Given the description of an element on the screen output the (x, y) to click on. 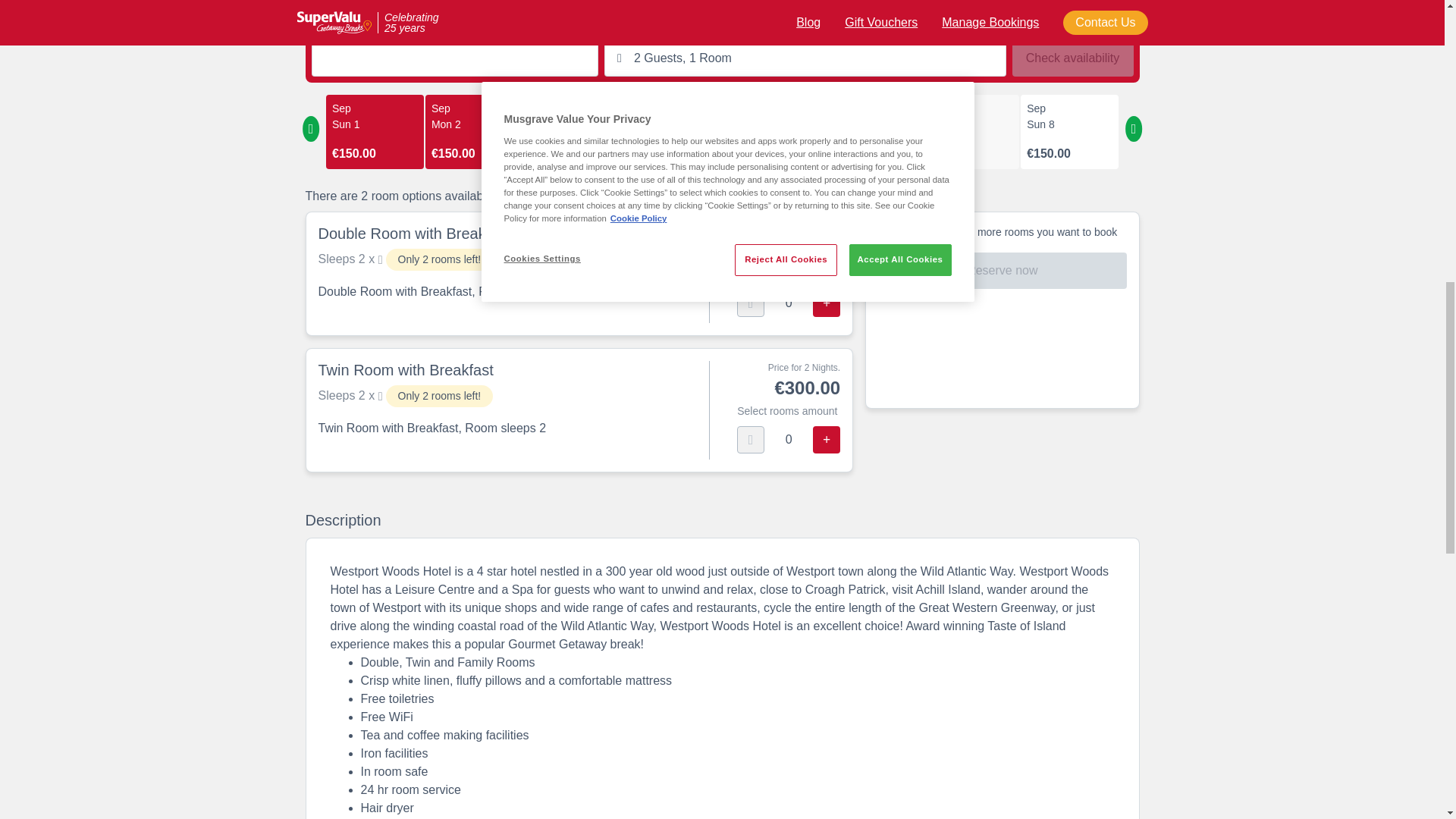
Check availability (1072, 58)
Reserve now (1001, 270)
